Given the description of an element on the screen output the (x, y) to click on. 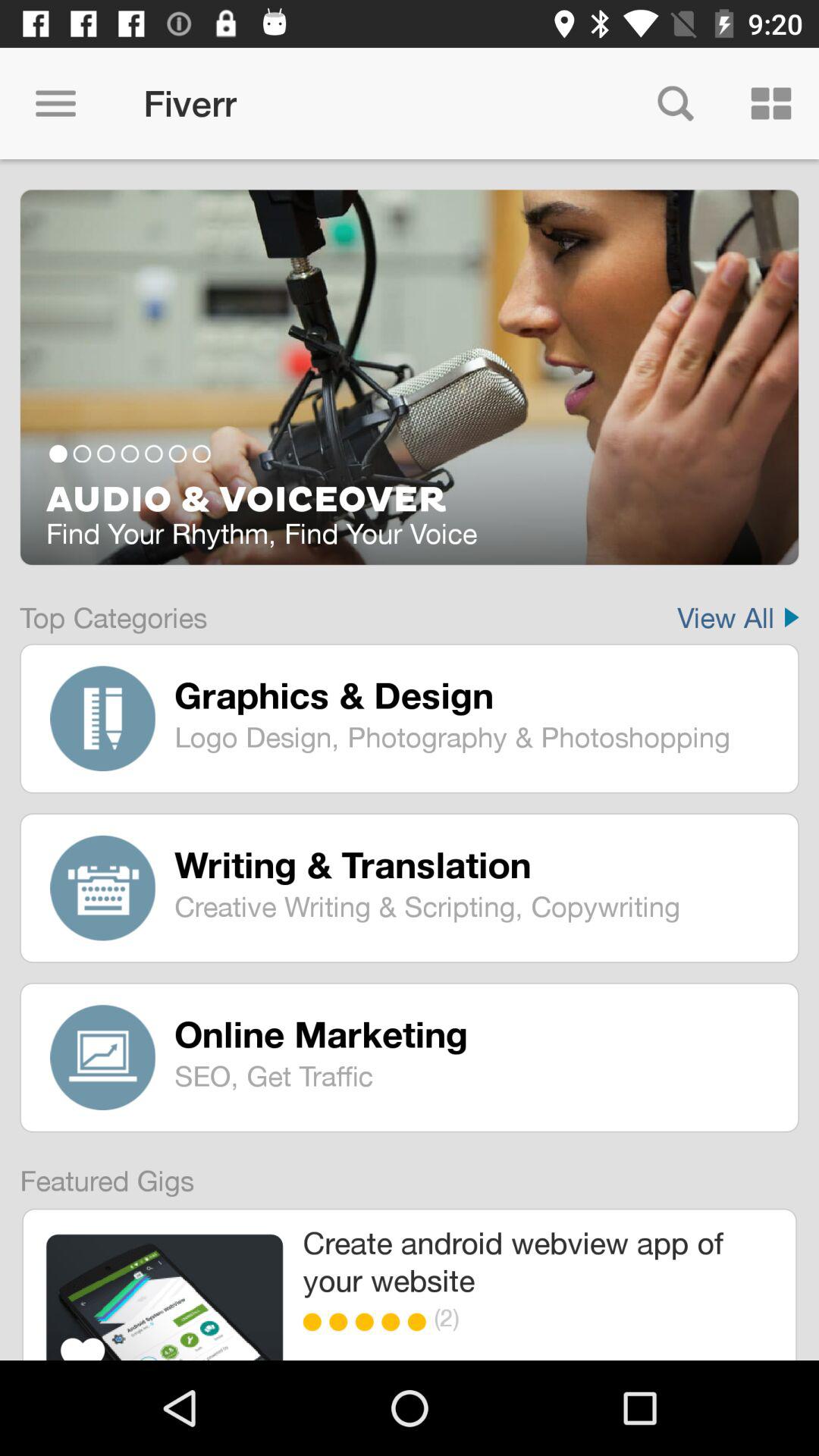
press the item below create android webview item (316, 1322)
